Given the description of an element on the screen output the (x, y) to click on. 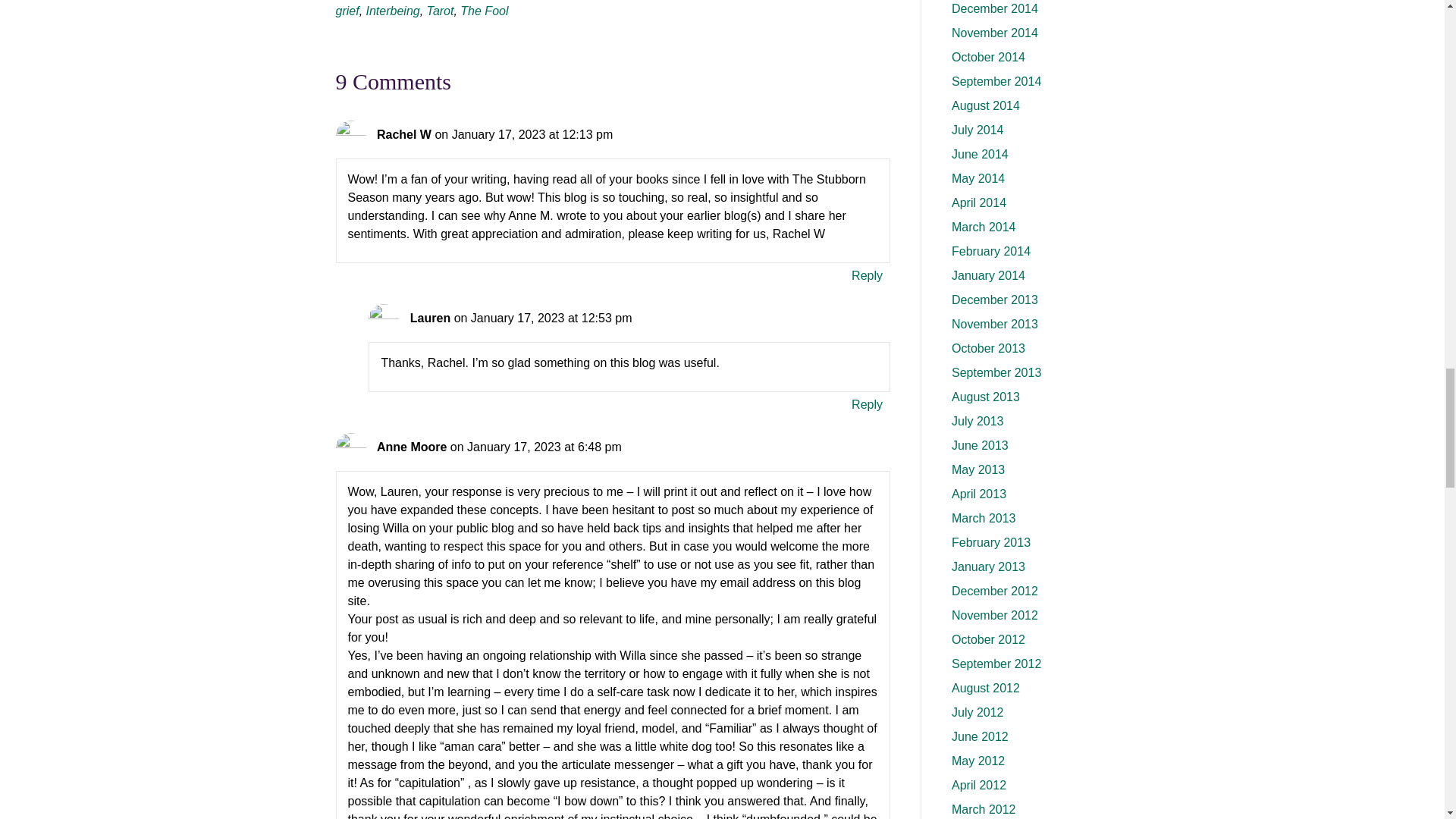
Reply (866, 275)
Reply (866, 403)
The Fool (484, 10)
Tarot (440, 10)
grief (346, 10)
Interbeing (393, 10)
